Given the description of an element on the screen output the (x, y) to click on. 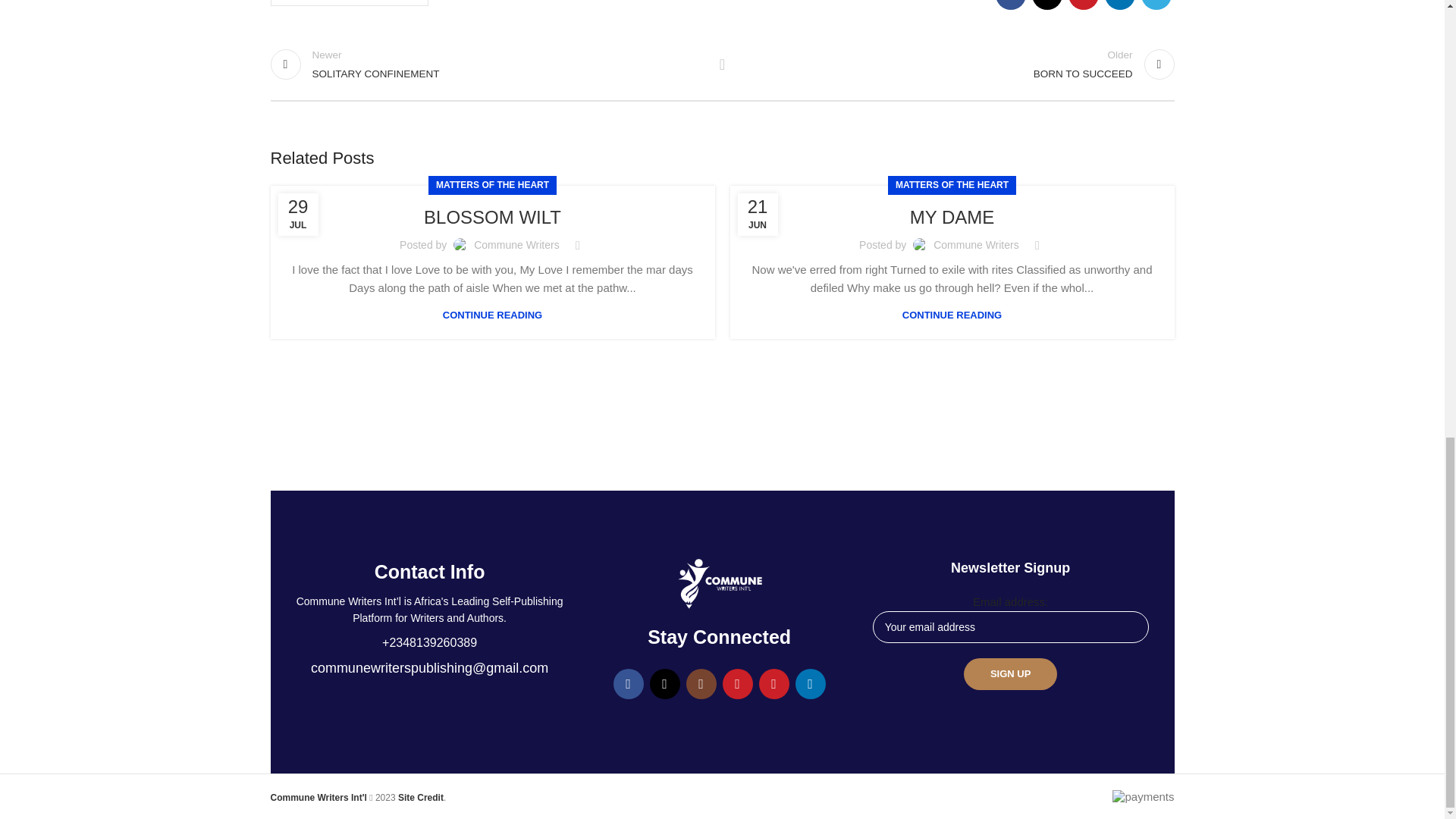
MATTERS Of The HEART (348, 2)
Sign up (1010, 674)
BLOSSOM WILT (955, 63)
Back to list (491, 217)
MATTERS OF THE HEART (488, 63)
